Given the description of an element on the screen output the (x, y) to click on. 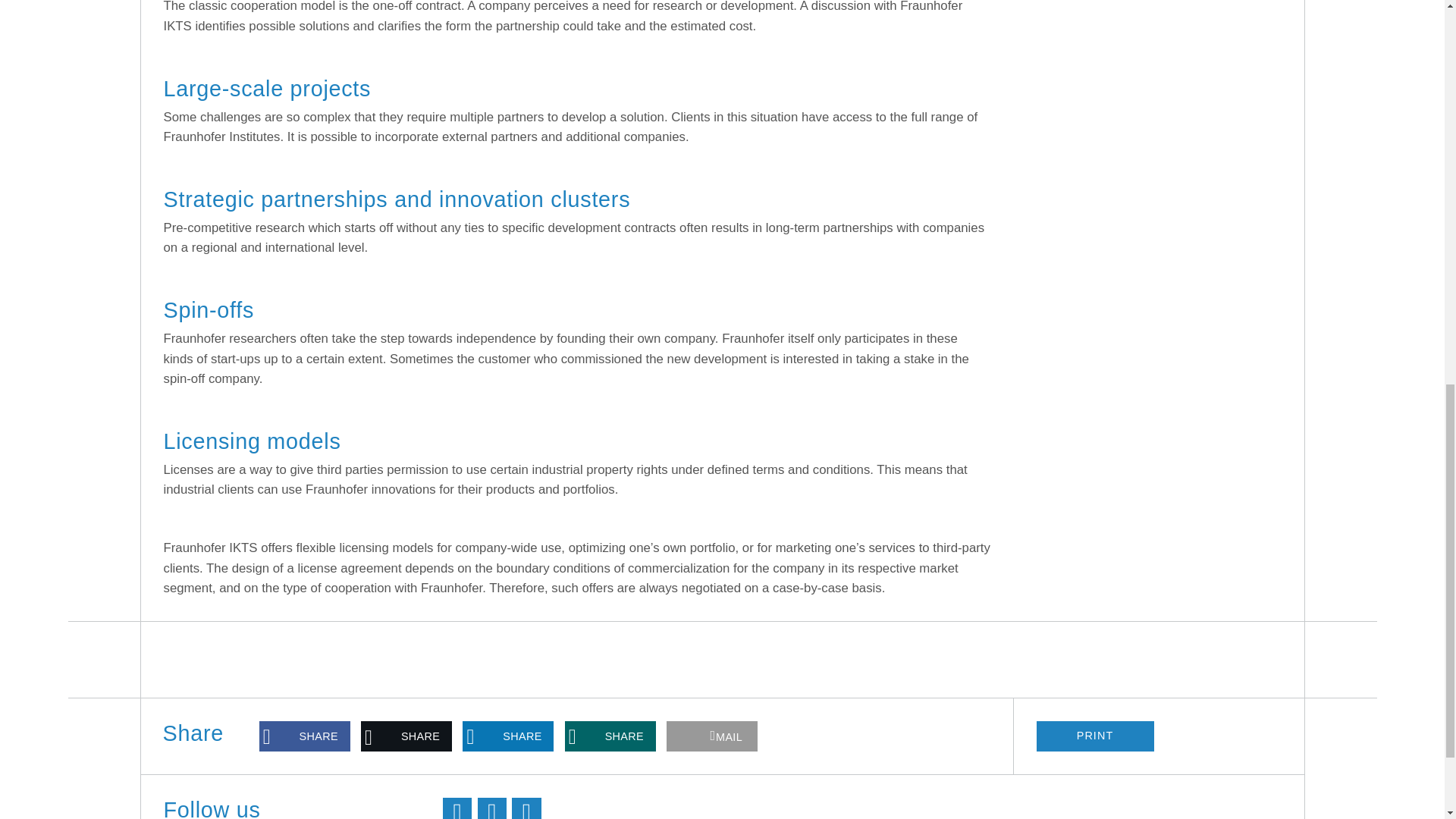
Share on Facebook (304, 736)
Share on X (406, 736)
Send by email (711, 736)
Visit us on Instagram (526, 808)
Share on XING (610, 736)
Share on LinkedIn (508, 736)
